Given the description of an element on the screen output the (x, y) to click on. 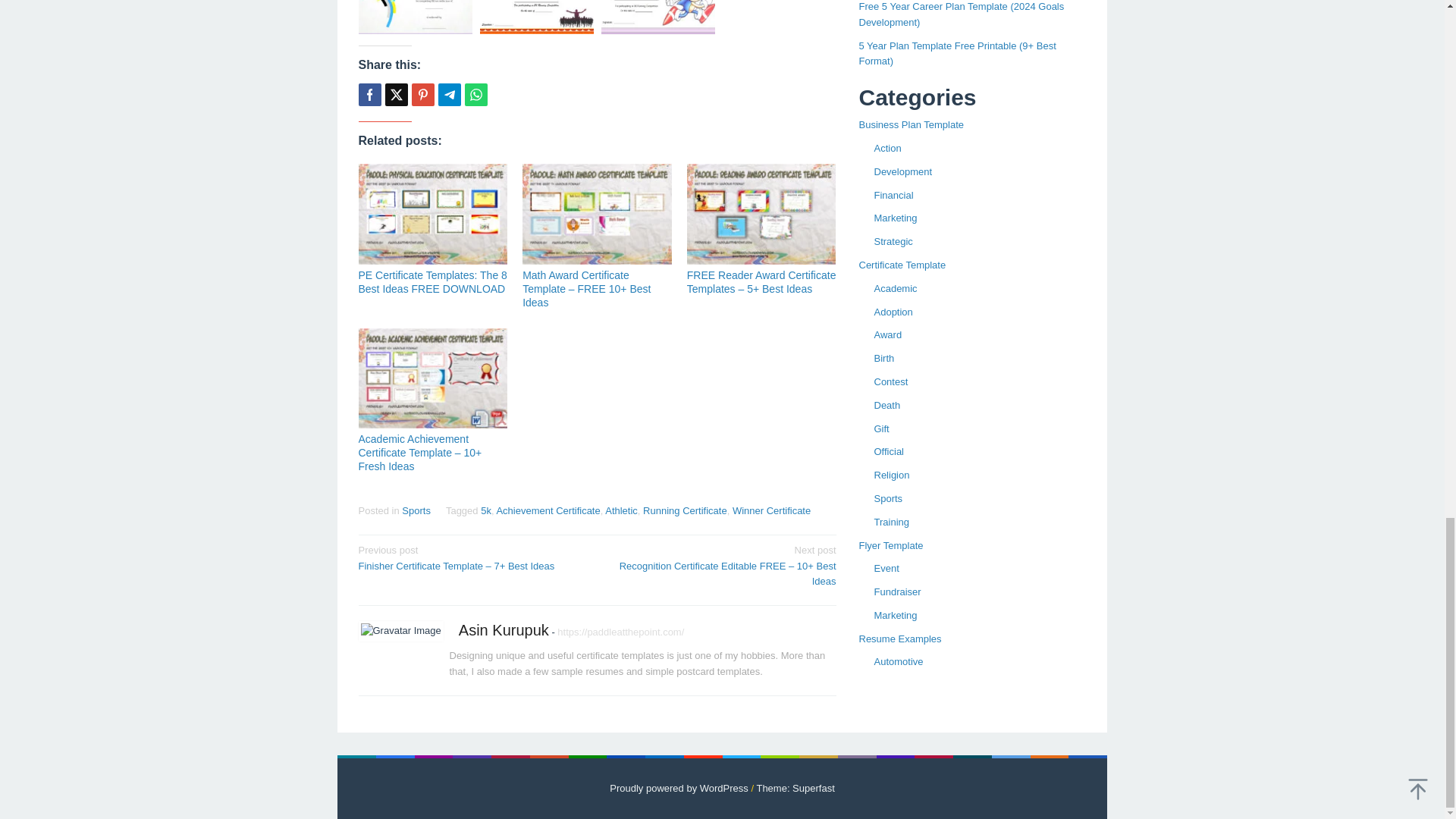
PE Certificate Templates: The 8 Best Ideas FREE DOWNLOAD (432, 281)
5k (486, 510)
Sports (415, 510)
